Given the description of an element on the screen output the (x, y) to click on. 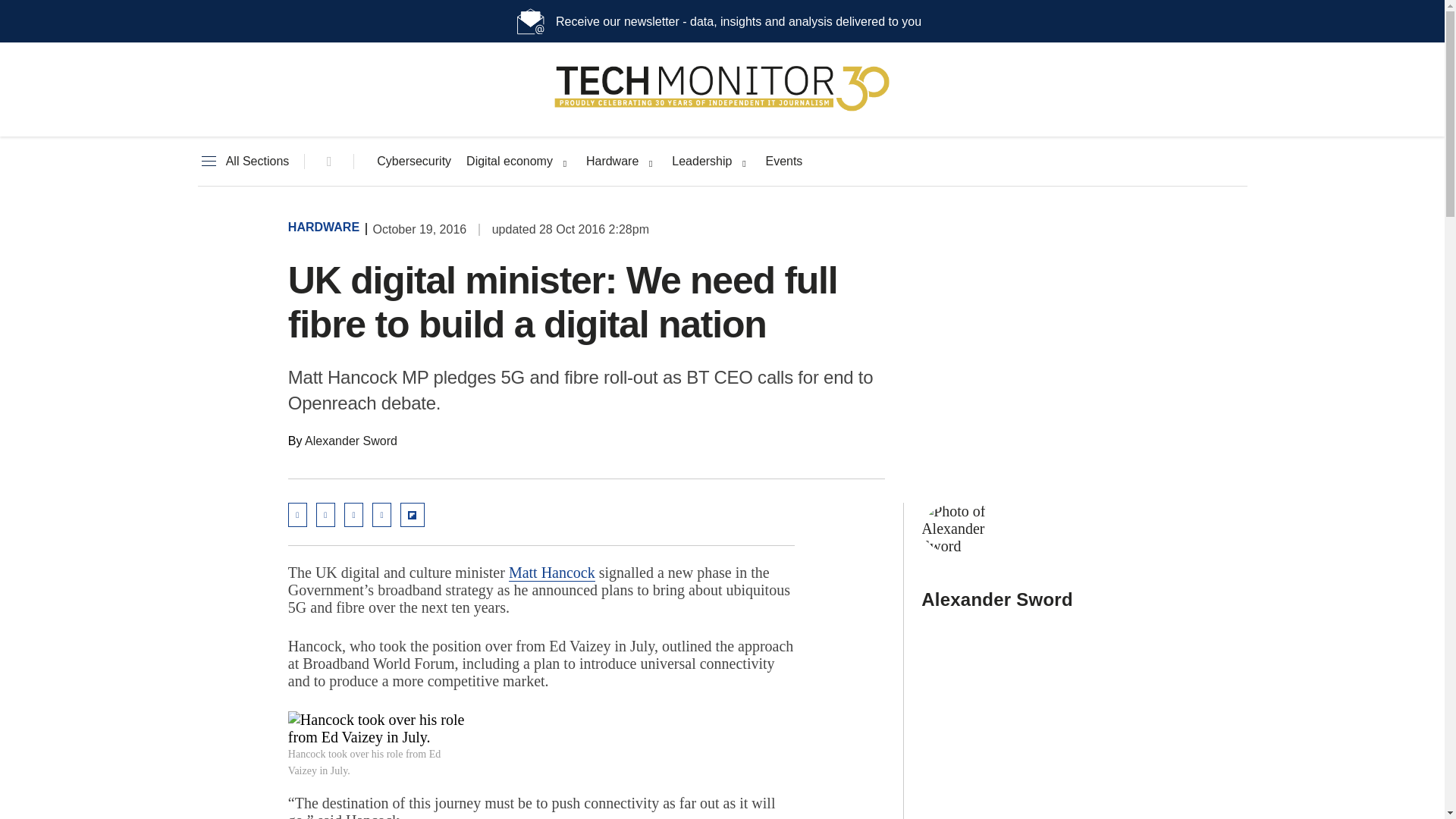
Tech Monitor (722, 110)
Leadership (701, 161)
Share on Flipboard (412, 514)
Hardware (612, 161)
Events (783, 161)
All Sections (242, 161)
Cybersecurity (414, 161)
Digital economy (509, 161)
